Given the description of an element on the screen output the (x, y) to click on. 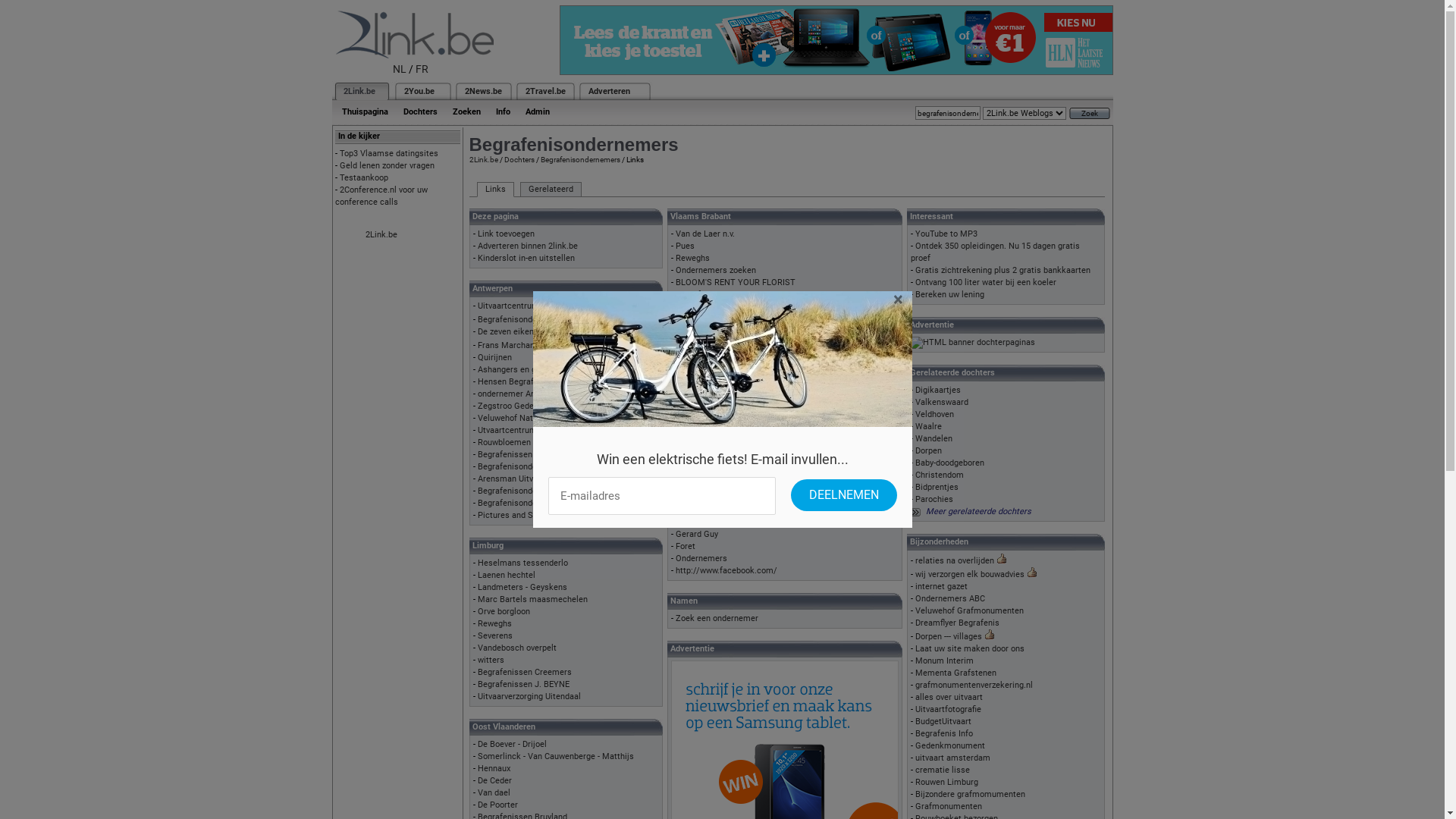
Hennaux Element type: text (493, 768)
Rouwbloemen bezorgen Antwerpen Element type: text (543, 442)
Uitvaartfotografie Element type: text (948, 709)
Begrafenisonderneming Mutsaers Element type: text (541, 490)
FR Element type: text (421, 68)
YouTube to MP3 Element type: text (946, 233)
Frans Marchang Element type: text (508, 345)
http://www.facebook.com/ Element type: text (726, 570)
Zoeken Element type: text (465, 111)
NL Element type: text (399, 68)
Ondernemers zoeken Element type: text (715, 270)
Vandebosch overpelt Element type: text (516, 647)
Van dael Element type: text (493, 792)
ondernemer Ann Schillebeeckx Element type: text (535, 393)
Dorpen --- villages Element type: text (948, 636)
grafmonumentenverzekering.nl Element type: text (973, 685)
Ashangers en gedenksieraden Element type: text (534, 369)
Landmeters - Geyskens Element type: text (522, 587)
Geld lenen zonder vragen Element type: text (386, 165)
Monum Interim Element type: text (944, 660)
Urn West Vlaanderen Element type: text (715, 402)
Veluwehof Grafmonumenten Element type: text (969, 610)
Waalre Element type: text (928, 426)
Foret Element type: text (685, 546)
Dreamflyer Begrafenis Element type: text (957, 622)
internet gazet Element type: text (941, 586)
wij verzorgen elk bouwadvies Element type: text (969, 574)
relaties na overlijden Element type: text (954, 560)
Begrafenis Vlaams Brabant Element type: text (727, 306)
Ontvang 100 liter water bij een koeler Element type: text (985, 282)
Vercruysse Element type: text (696, 414)
Begrafenisonderneming Mutsaers Element type: text (541, 466)
Admin Element type: text (536, 111)
2Conference.nl voor uw conference calls Element type: text (381, 196)
Orve borgloon Element type: text (503, 611)
Begrafenisondernemers Element type: text (579, 159)
Laenen hechtel Element type: text (506, 575)
Pictures and Stuff Element type: text (511, 515)
Ontdek 350 opleidingen. Nu 15 dagen gratis proef Element type: text (994, 252)
Gerard Guy Element type: text (696, 534)
Begrafenissen Antwerpen Element type: text (525, 454)
Links Element type: text (494, 189)
witters Element type: text (490, 660)
De Boever - Drijoel Element type: text (511, 744)
Somerlinck - Van Cauwenberge - Matthijs Element type: text (555, 756)
BLOOM'S RENT YOUR FLORIST Element type: text (735, 282)
Info Element type: text (502, 111)
Grafmonumenten Element type: text (948, 806)
Laat uw site maken door ons Element type: text (969, 648)
Heselmans tessenderlo Element type: text (522, 562)
Begrafenisondernemers Antwerpen Element type: text (544, 319)
Marc Bartels maasmechelen Element type: text (532, 599)
alles over uitvaart Element type: text (709, 438)
Veldhoven Element type: text (934, 414)
2Link.be Element type: text (482, 159)
Begrafenisondernemers Element type: text (720, 294)
2News.be Element type: text (482, 91)
BudgetUitvaart Element type: text (943, 721)
Rouwen Limburg Element type: text (946, 782)
Christendom Element type: text (939, 475)
Dochters Element type: text (420, 111)
Kinderslot in-en uitstellen Element type: text (525, 258)
Severens Element type: text (494, 635)
Reweghs Element type: text (494, 623)
Ondernemers Element type: text (701, 486)
Bijzondere grafmomumenten Element type: text (970, 794)
Zoek een ondernemer Element type: text (716, 618)
2Link.be Element type: text (358, 91)
Dochters Element type: text (518, 159)
Ondernemers Element type: text (701, 558)
Begrafenissen Creemers Element type: text (524, 672)
Demuys Element type: text (690, 426)
Reweghs Element type: text (692, 258)
Thuispagina Element type: text (364, 111)
Http://www.inmemzoek de ondernemer Element type: text (749, 354)
Gratis zichtrekening plus 2 gratis bankkaarten Element type: text (1002, 270)
Parochies Element type: text (934, 499)
Wandelen Element type: text (933, 438)
Valkenswaard Element type: text (941, 402)
Zoek Element type: text (1089, 113)
Ondernemers ABC Element type: text (950, 598)
Pues Element type: text (684, 246)
Hensen Begrafenissen en Grafzerken Element type: text (547, 381)
Meer gerelateerde dochters Element type: text (978, 511)
Van de Laer n.v. Element type: text (704, 233)
Begrafenissen J. BEYNE Element type: text (523, 684)
alles over uitvaart Element type: text (948, 697)
Top3 Vlaamse datingsites Element type: text (388, 153)
Uitvaartcentrum Swolfs Element type: text (522, 305)
De Ceder Element type: text (494, 780)
2Link.be Element type: text (381, 234)
Begrafenisonderneming Mutsaers Element type: text (541, 503)
Quirijnen Element type: text (494, 357)
Arensman Uitvaart Element type: text (512, 478)
Mementa Grafstenen Element type: text (955, 672)
Testaankoop Element type: text (363, 177)
De Poorter Element type: text (497, 804)
Gerelateerd Element type: text (550, 189)
Digikaartjes Element type: text (937, 390)
Link toevoegen Element type: text (505, 233)
Zegstroo Gedenkstenen en Grafstenen Element type: text (550, 406)
Bereken uw lening Element type: text (949, 294)
Veluwehof Natuursteen Element type: text (521, 418)
Adverteren binnen 2link.be Element type: text (527, 246)
Baby-doodgeboren Element type: text (949, 462)
Begrafenis Info Element type: text (943, 733)
2You.be Element type: text (418, 91)
Bidprentjes Element type: text (936, 487)
Uitvaarverzorging Uitendaal Element type: text (528, 696)
De zeven eiken Element type: text (505, 331)
Gedenkmonument Element type: text (950, 745)
Adverteren Element type: text (609, 91)
Dorpen Element type: text (928, 450)
Utvaartcentrum Antwerpen Element type: text (528, 430)
2Travel.be Element type: text (544, 91)
crematie lisse Element type: text (942, 770)
uitvaart amsterdam Element type: text (952, 757)
